Given the description of an element on the screen output the (x, y) to click on. 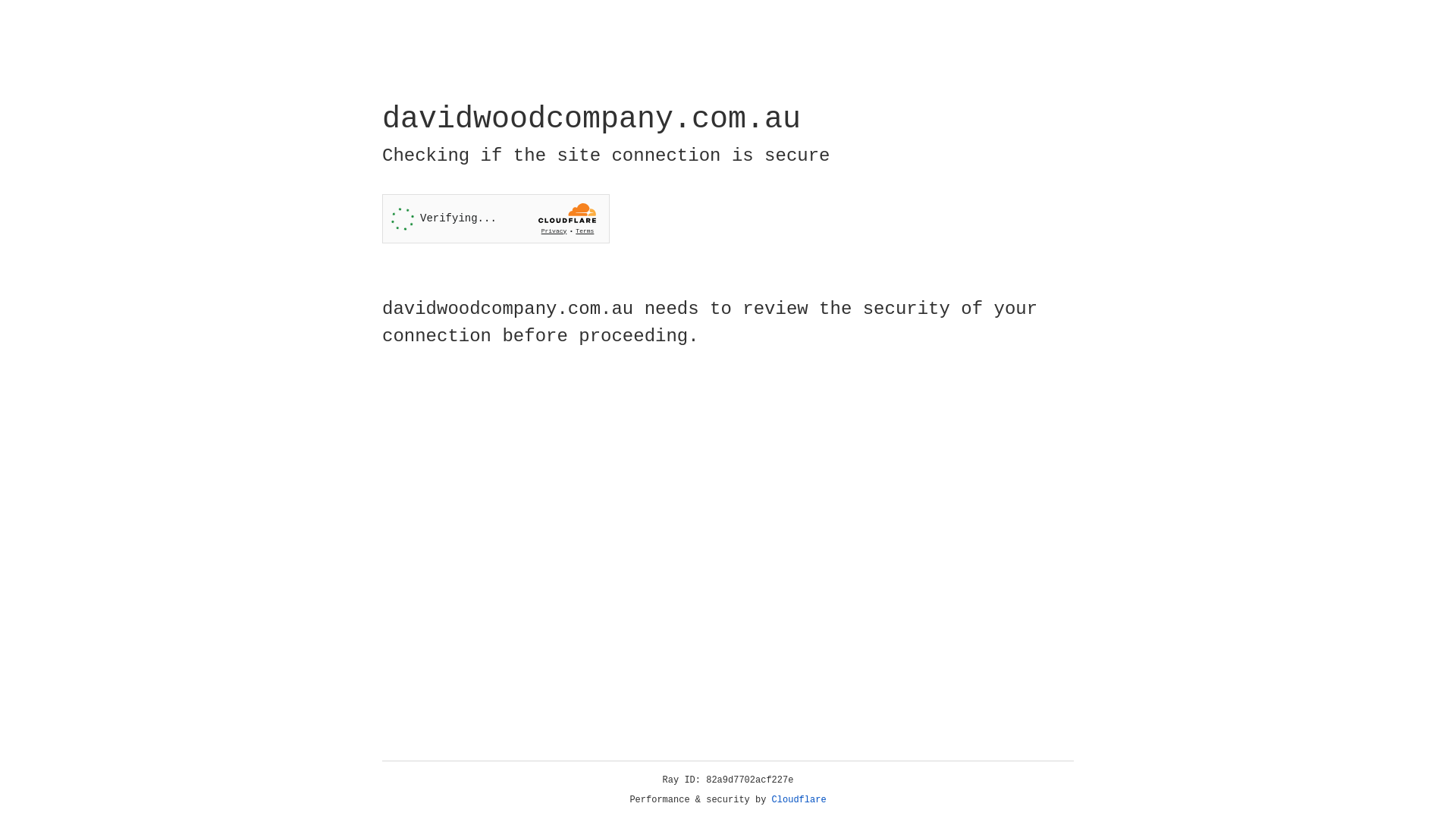
Widget containing a Cloudflare security challenge Element type: hover (495, 218)
Cloudflare Element type: text (798, 799)
